Given the description of an element on the screen output the (x, y) to click on. 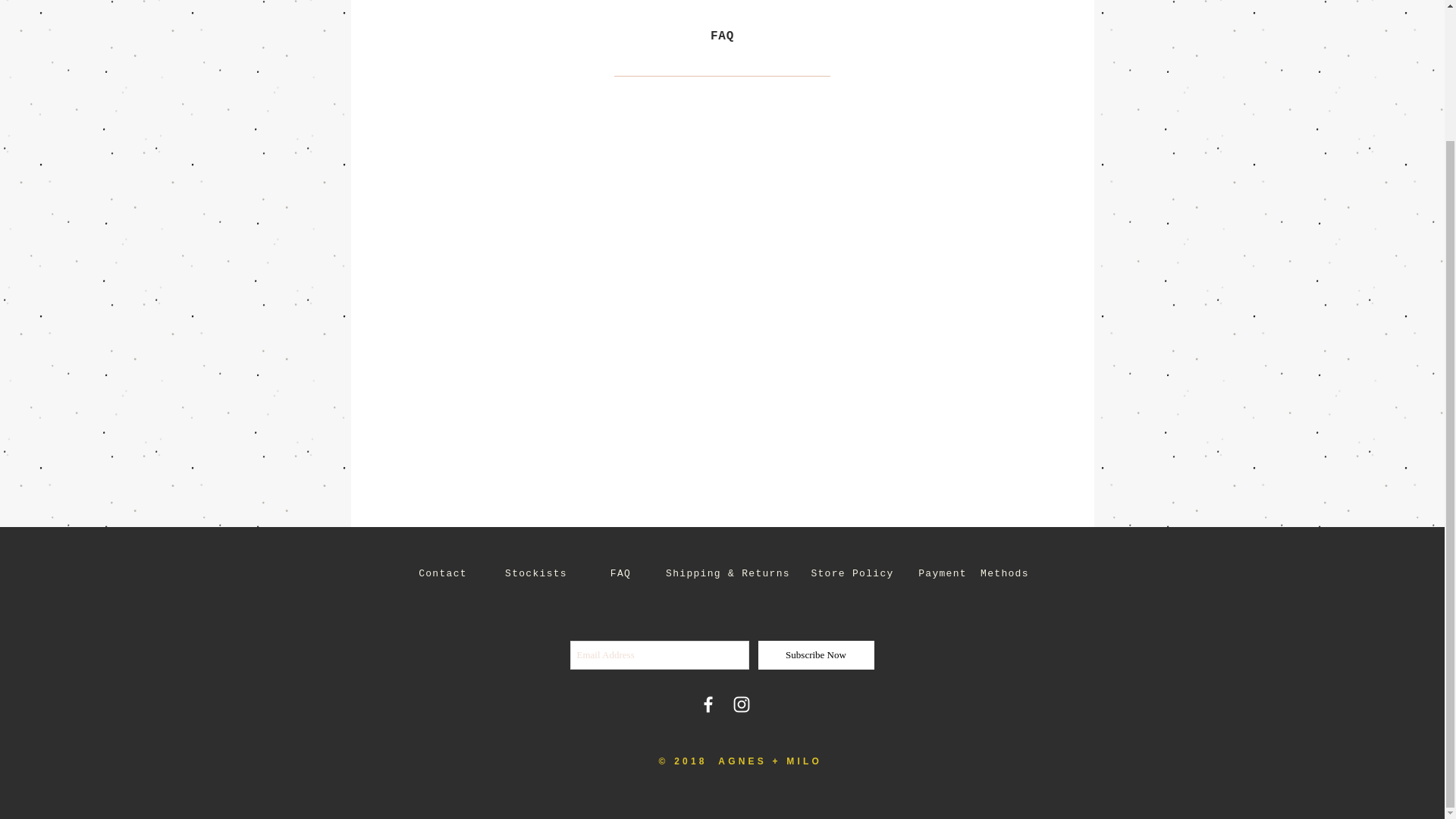
Subscribe Now (816, 654)
Payment  Methods (973, 573)
Stockists (536, 573)
Contact (443, 573)
Store Policy (851, 573)
FAQ (620, 573)
